Given the description of an element on the screen output the (x, y) to click on. 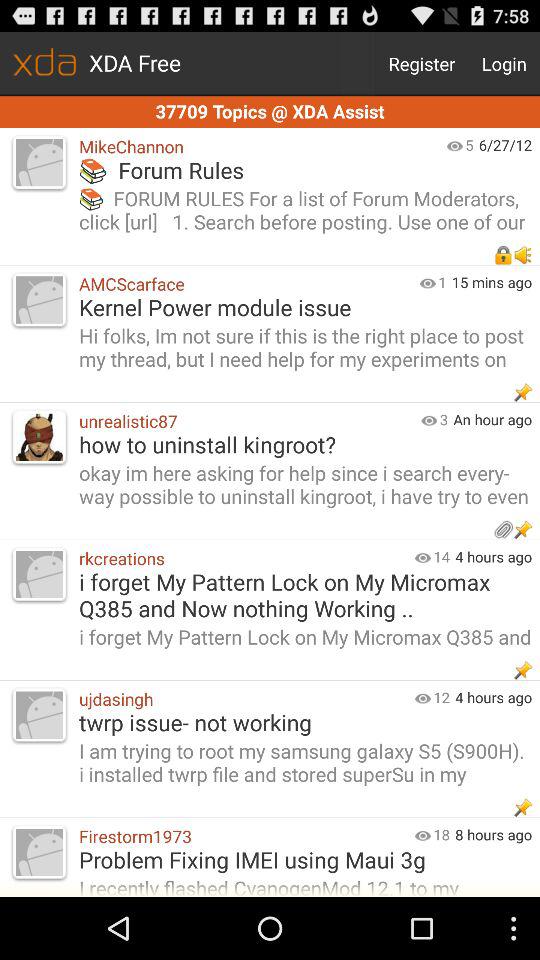
turn off item next to the login item (421, 63)
